Given the description of an element on the screen output the (x, y) to click on. 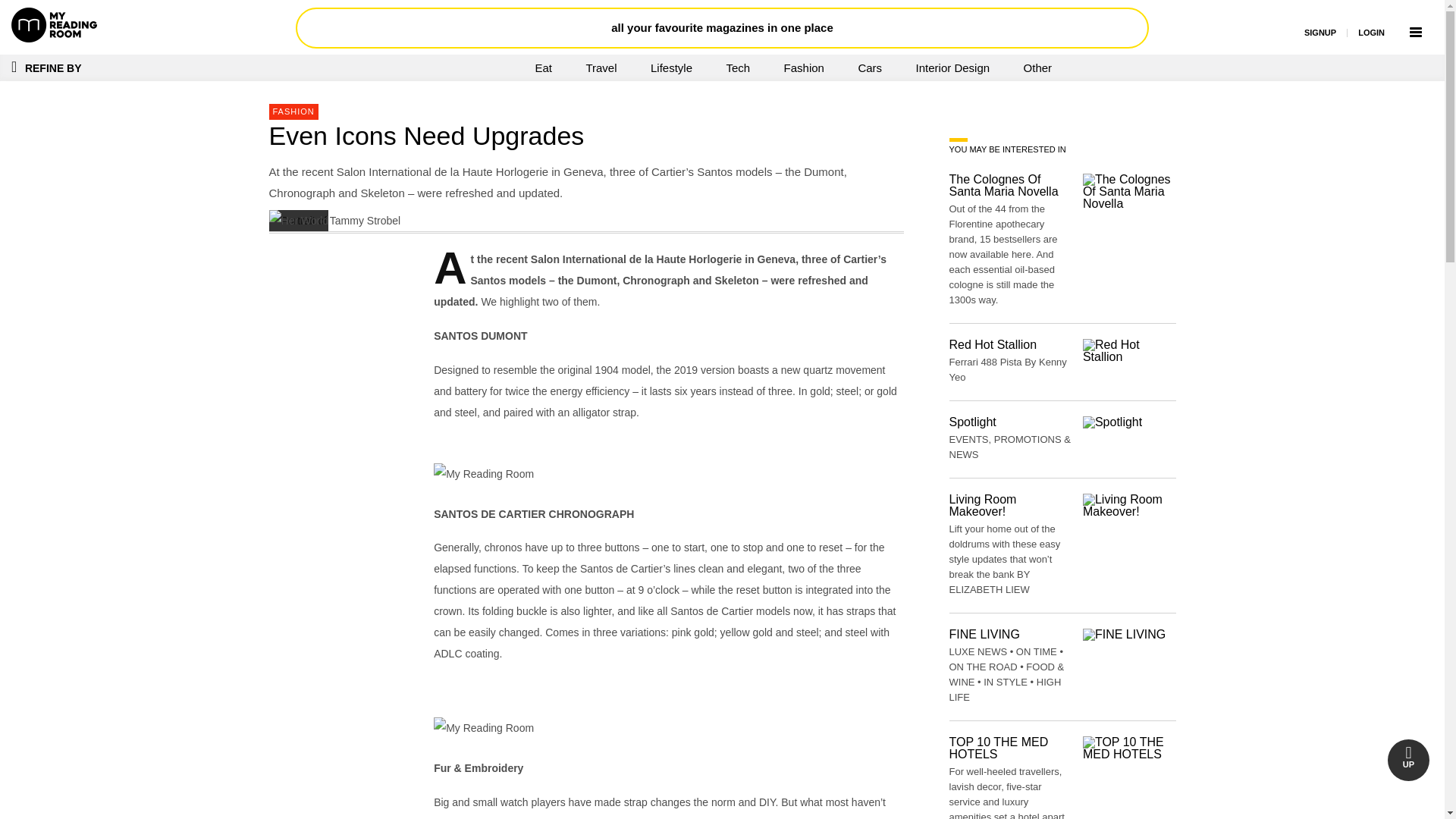
Travel (600, 67)
SIGNUP (1320, 31)
Tech (737, 67)
Other (1038, 67)
Lifestyle (670, 67)
Interior Design (953, 67)
Cars (869, 67)
LOGIN (1371, 31)
Fashion (804, 67)
Eat (543, 67)
